Given the description of an element on the screen output the (x, y) to click on. 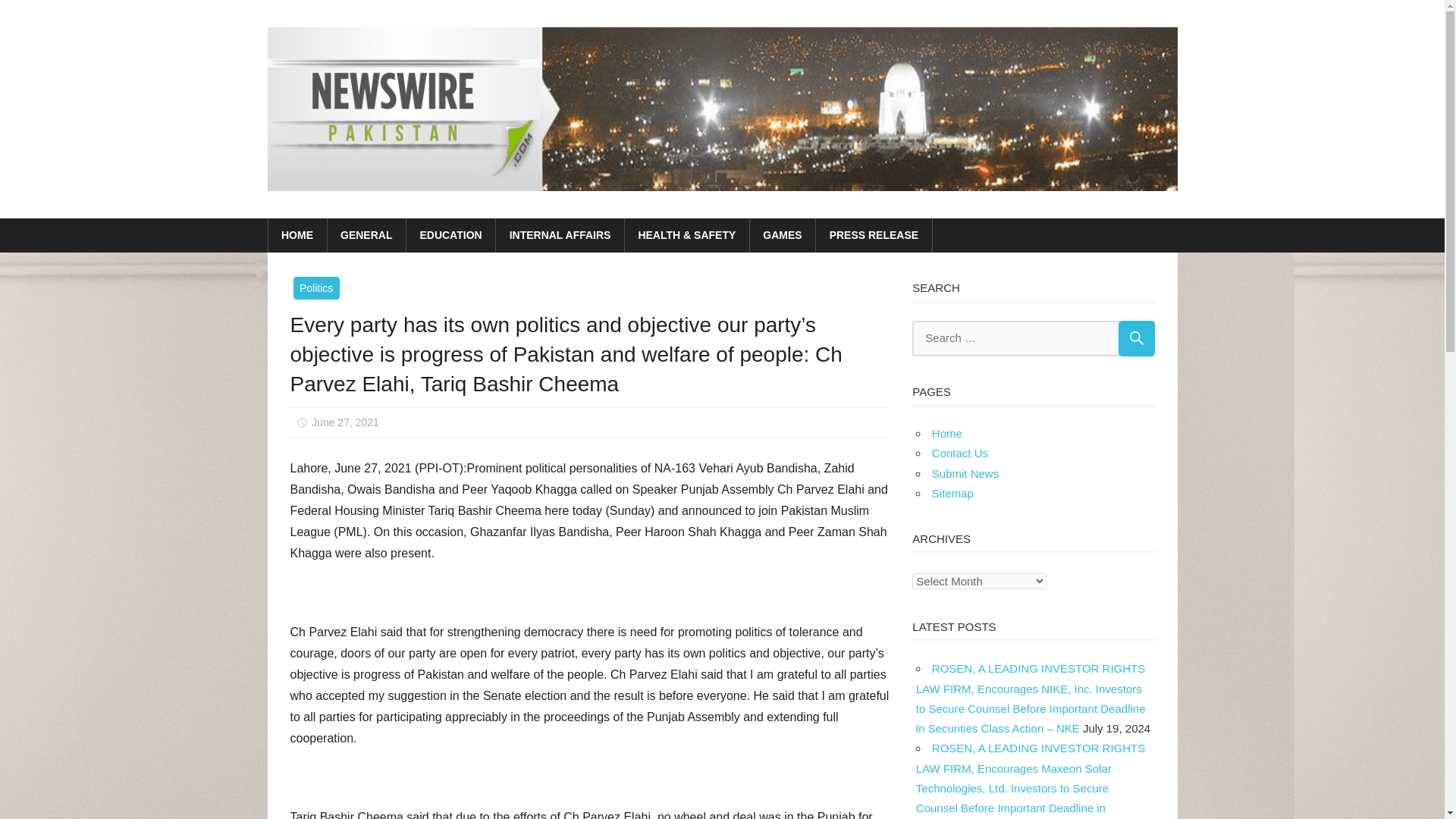
Web Desk (438, 422)
View all posts by Web Desk (438, 422)
HOME (297, 235)
Contact Us (959, 452)
Submit News (964, 472)
GAMES (782, 235)
Politics (315, 287)
Home (946, 432)
Search for: (1033, 338)
EDUCATION (451, 235)
INTERNAL AFFAIRS (560, 235)
2:25 pm (344, 422)
June 27, 2021 (344, 422)
PRESS RELEASE (873, 235)
GENERAL (366, 235)
